Given the description of an element on the screen output the (x, y) to click on. 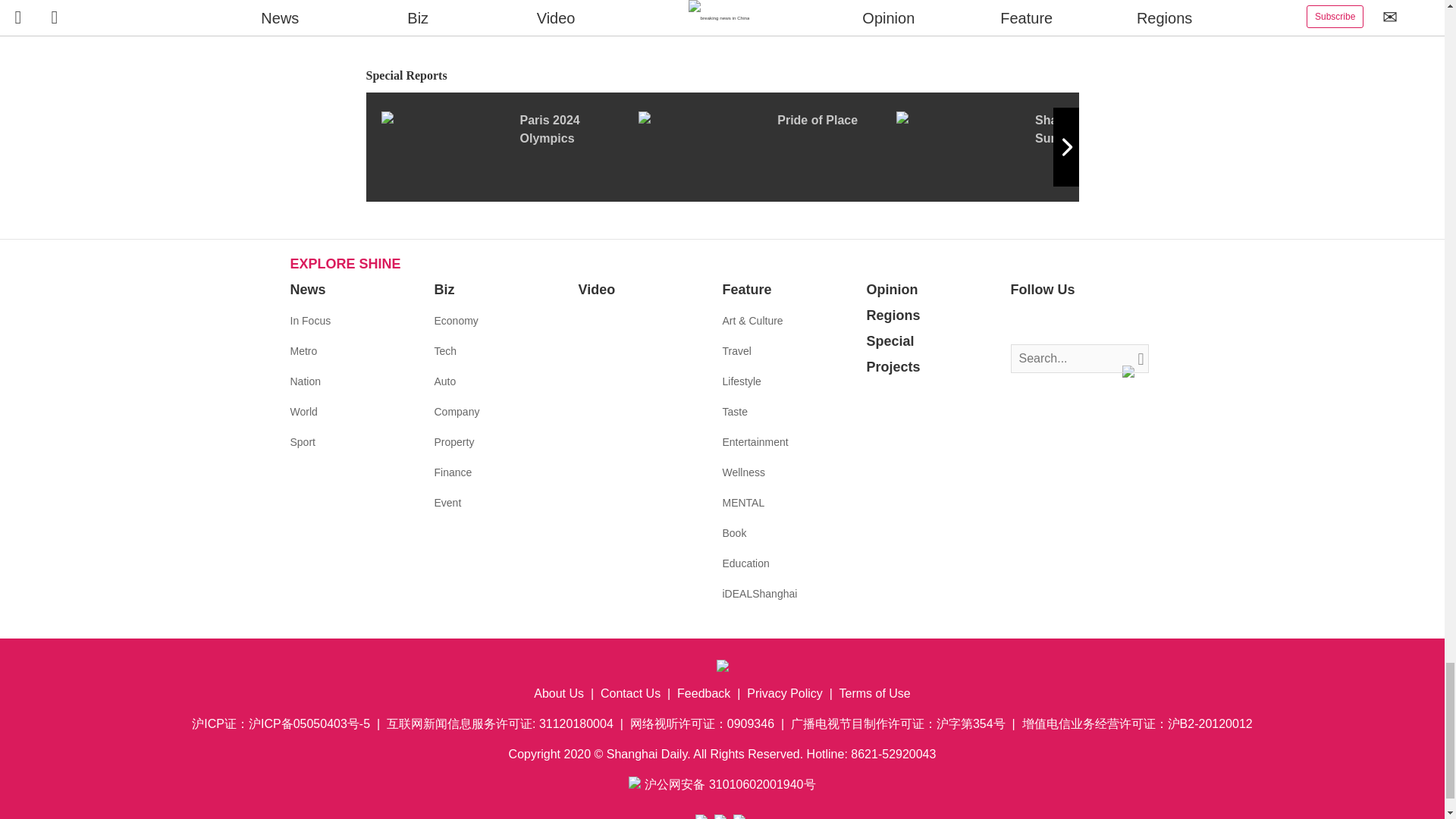
Follow us on Wechat (1112, 321)
Pride of Place (767, 146)
Follow us on Twitter (1044, 321)
Follow us on Facebook (1021, 321)
Follow us on Youtube (1090, 321)
Special Reports (721, 76)
Follow us on Instagram (1067, 321)
Shanghai Summer (1024, 146)
Paris 2024 Olympics (508, 146)
